Given the description of an element on the screen output the (x, y) to click on. 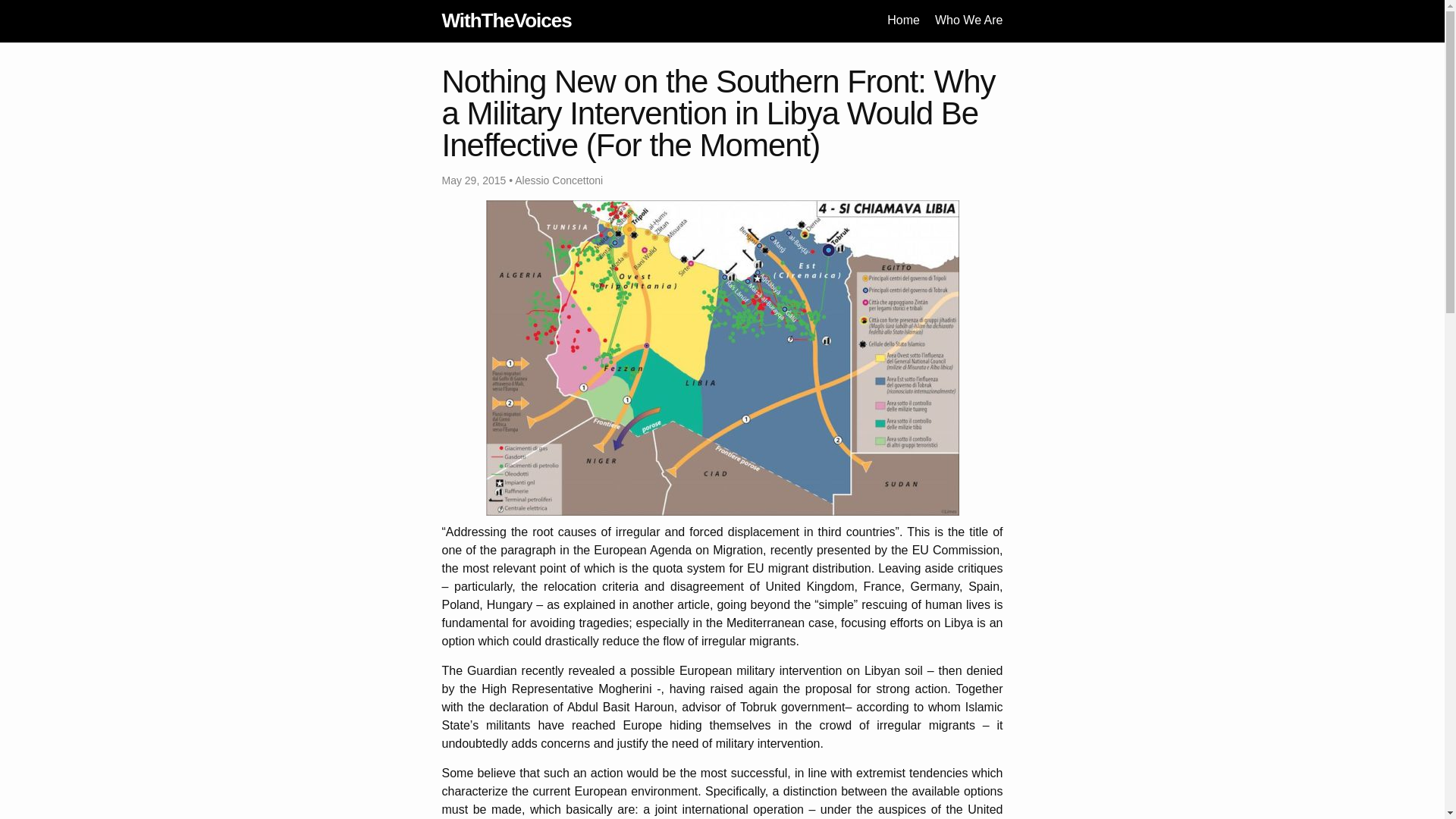
WithTheVoices (505, 20)
Home (903, 19)
Who We Are (968, 19)
